Given the description of an element on the screen output the (x, y) to click on. 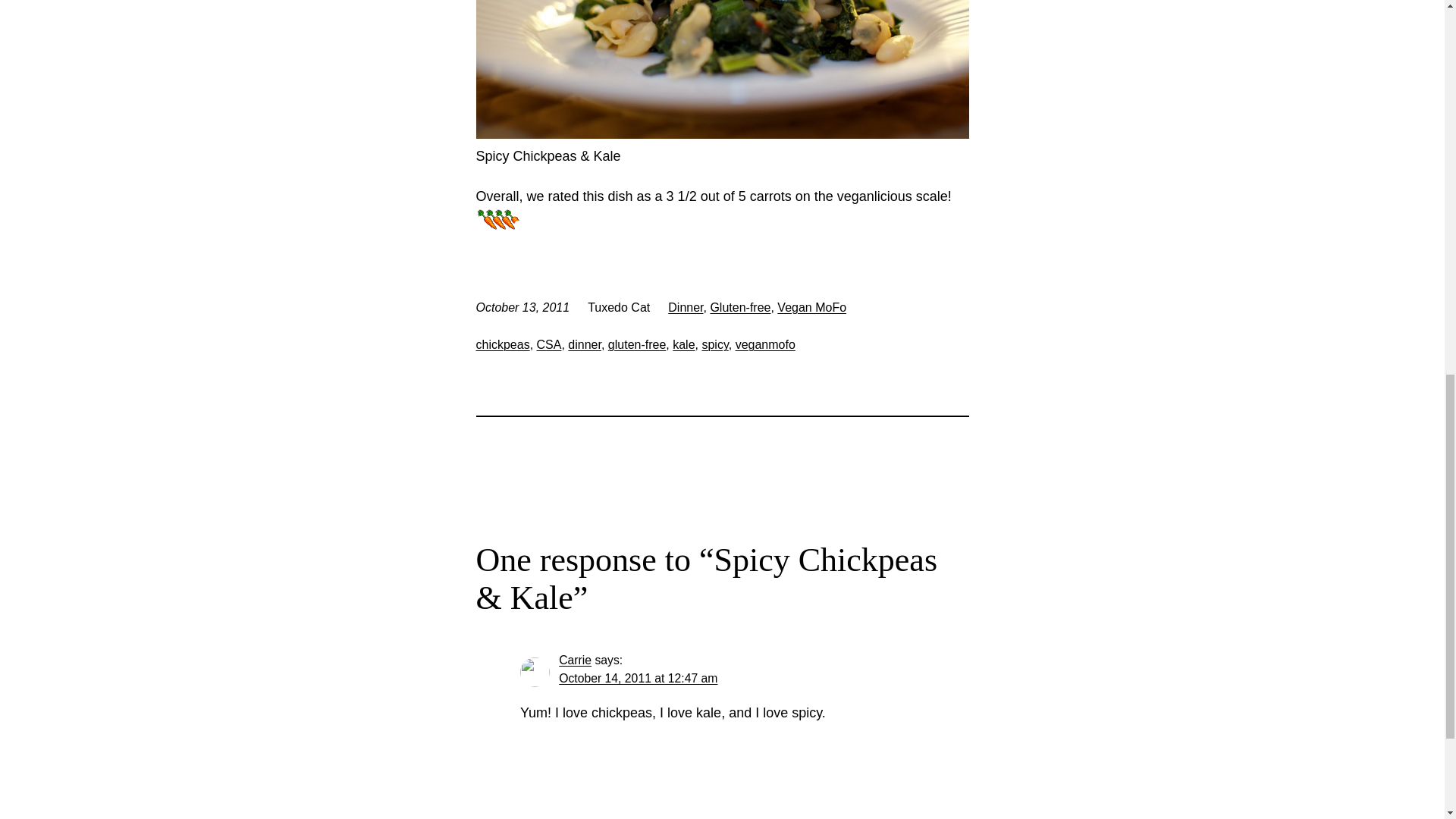
Carrie (575, 659)
Dinner (685, 307)
spicy (714, 344)
chickpeas (502, 344)
Gluten-free (740, 307)
kale (683, 344)
veganmofo (764, 344)
October 14, 2011 at 12:47 am (638, 677)
3.5carrots (504, 219)
Vegan MoFo (811, 307)
